Given the description of an element on the screen output the (x, y) to click on. 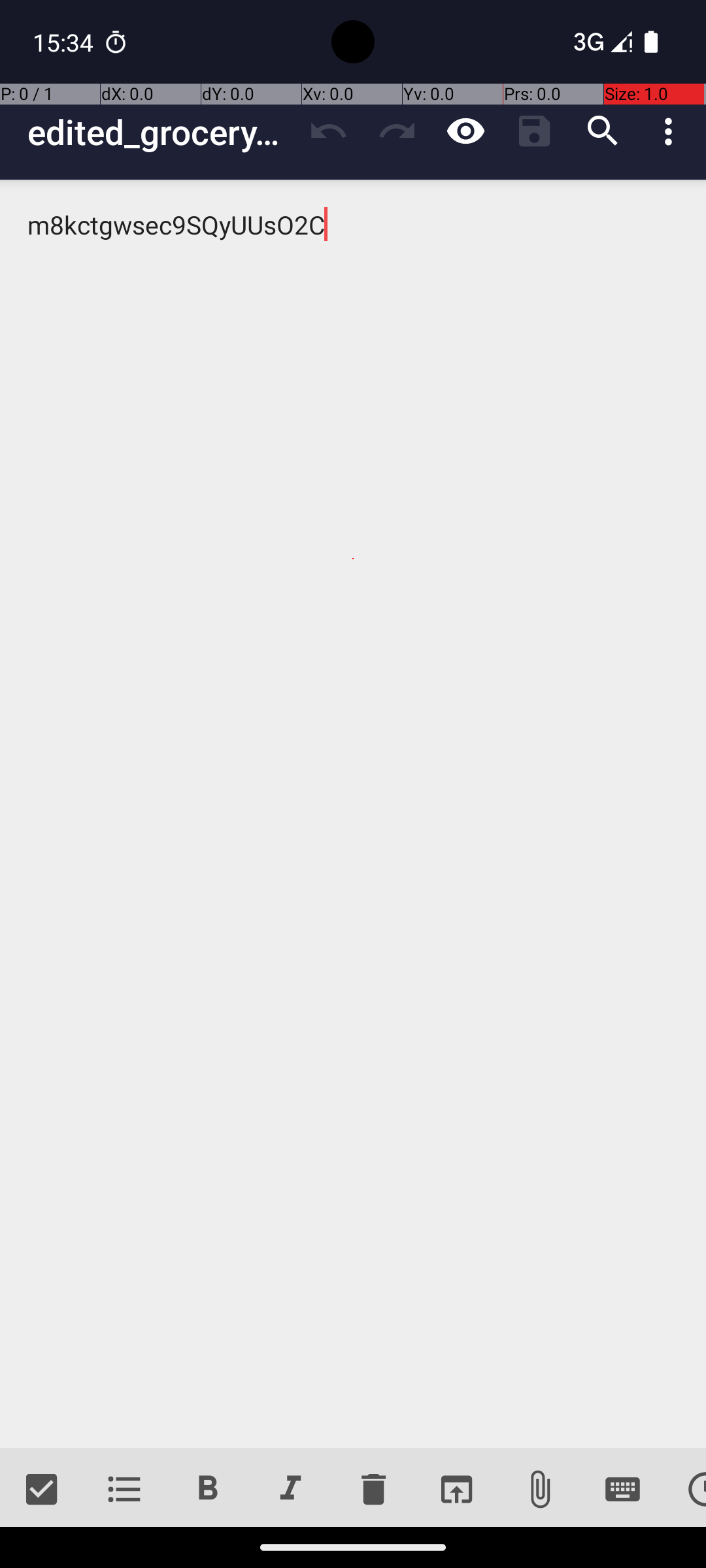
edited_grocery_list_weekly Element type: android.widget.TextView (160, 131)
m8kctgwsec9SQyUUsO2C
 Element type: android.widget.EditText (353, 813)
